Given the description of an element on the screen output the (x, y) to click on. 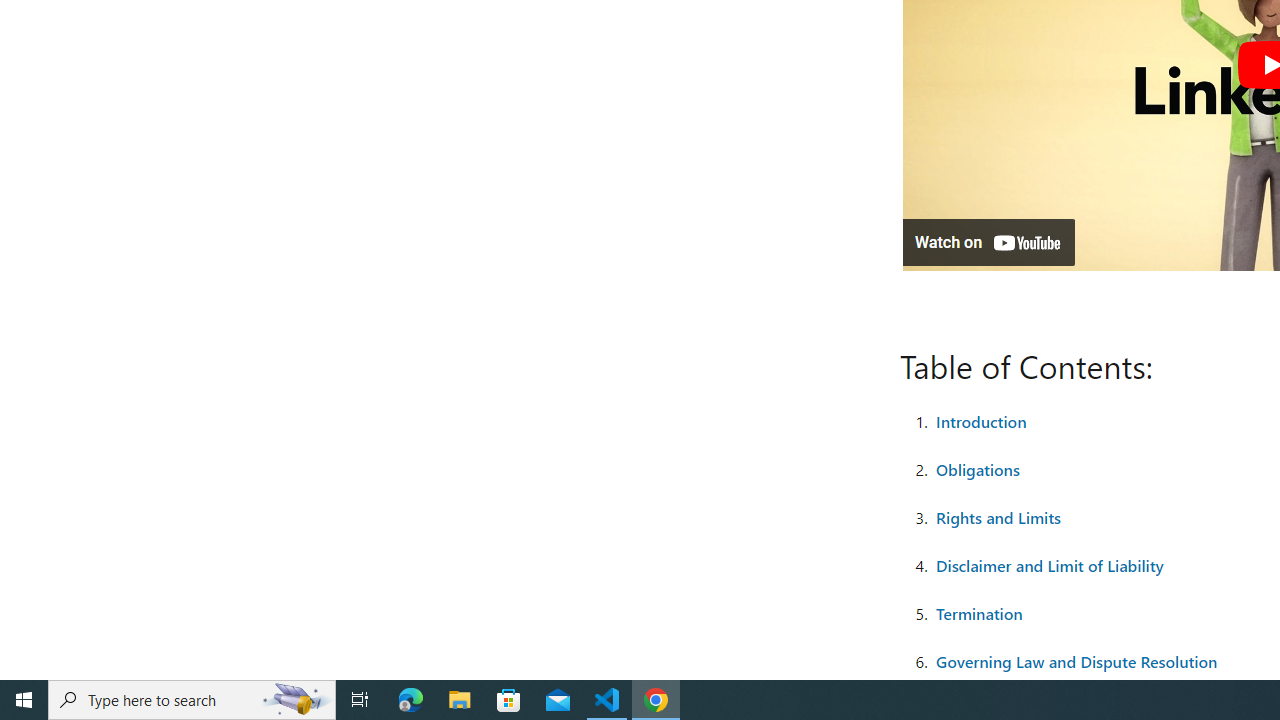
Disclaimer and Limit of Liability (1049, 564)
Obligations (977, 468)
Termination (978, 612)
Governing Law and Dispute Resolution (1076, 660)
Rights and Limits (998, 516)
Watch on YouTube (988, 241)
Introduction (980, 420)
